Given the description of an element on the screen output the (x, y) to click on. 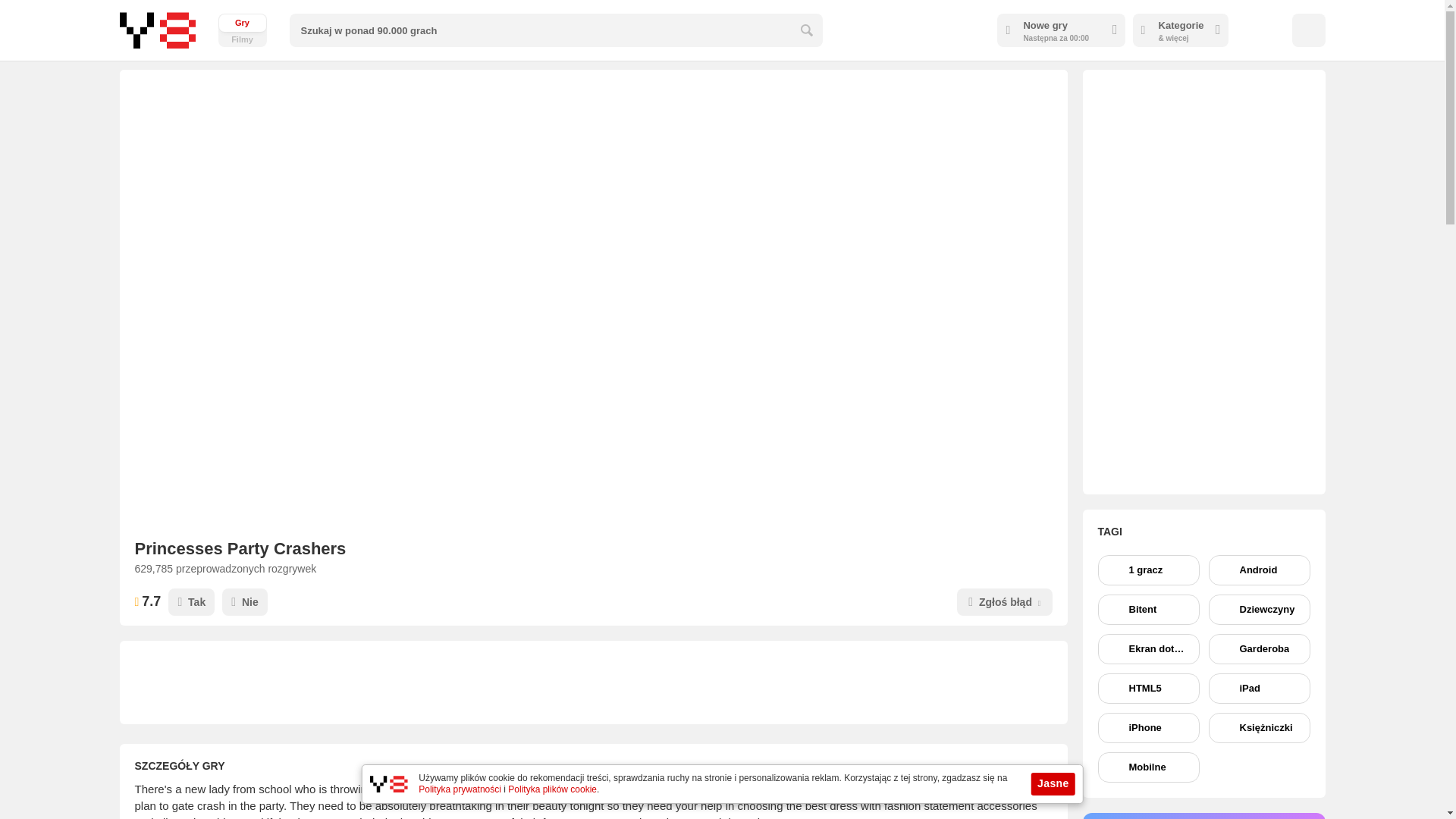
Garderoba (1259, 648)
Mobilne (1148, 767)
iPad (1259, 688)
Ekran dotykowy (1148, 648)
Dziewczyny (1259, 609)
1 gracz (1148, 570)
Filmy (242, 29)
iPhone (1148, 727)
HTML5 (1148, 688)
Bitent (1148, 609)
Android (242, 29)
